Given the description of an element on the screen output the (x, y) to click on. 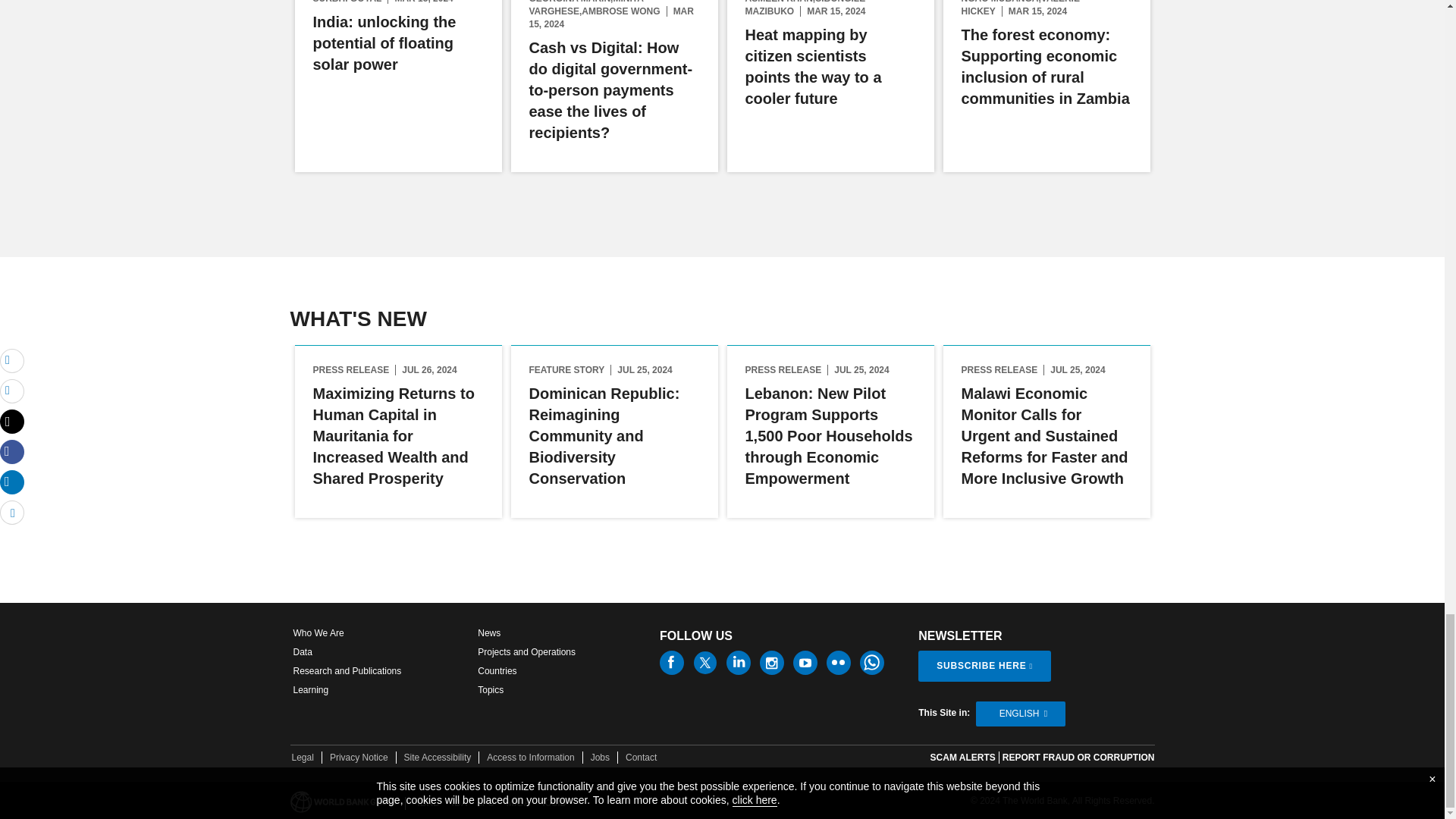
International Bank for Reconstruction and Development (427, 802)
World Bank Group logo (343, 802)
